Given the description of an element on the screen output the (x, y) to click on. 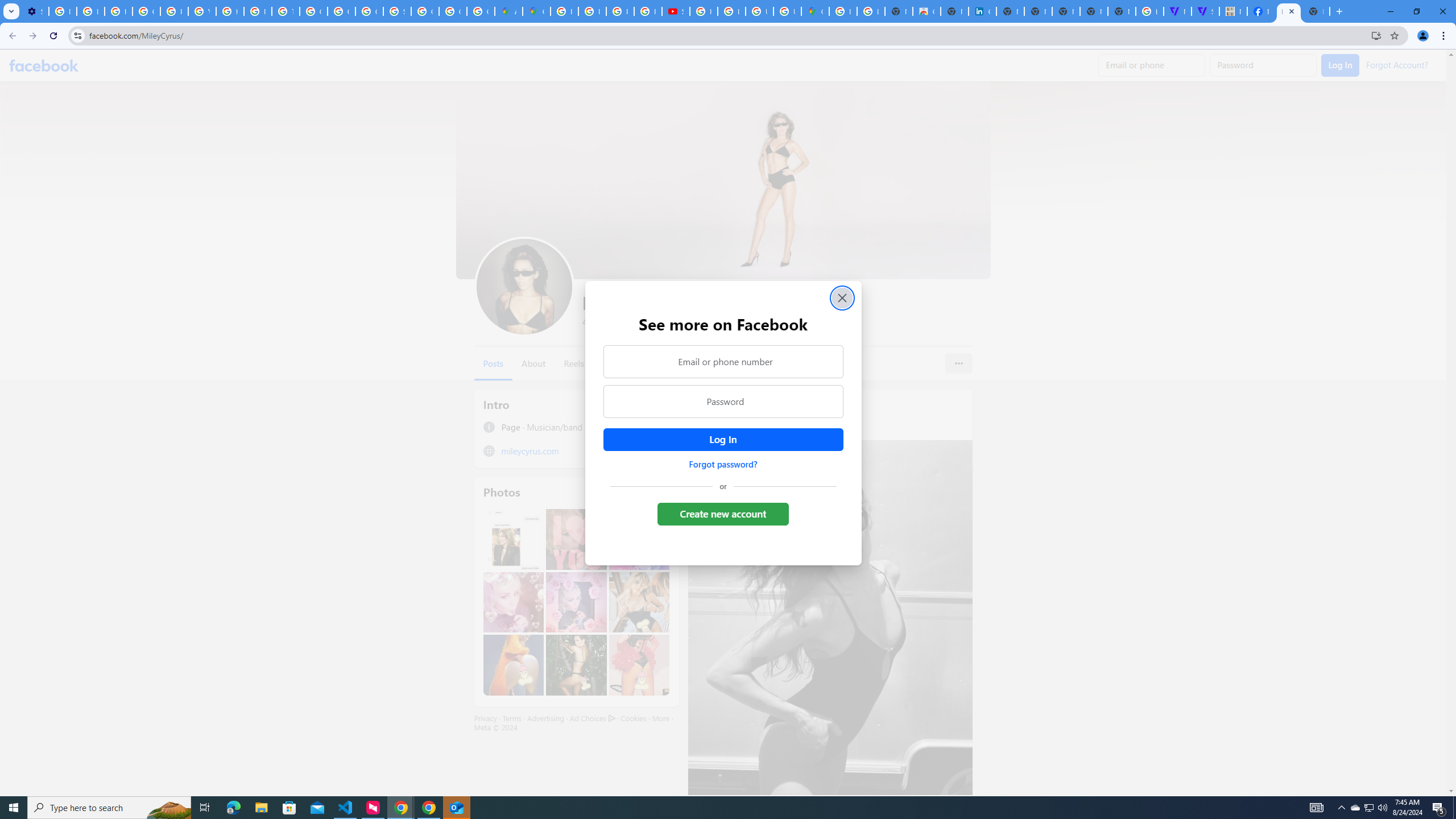
Sign in - Google Accounts (397, 11)
Password (722, 400)
Cookie Policy | LinkedIn (982, 11)
Accessible login button (722, 439)
How Chrome protects your passwords - Google Chrome Help (703, 11)
Chrome Web Store (926, 11)
Google Maps (536, 11)
Blogger Policies and Guidelines - Transparency Center (564, 11)
